Given the description of an element on the screen output the (x, y) to click on. 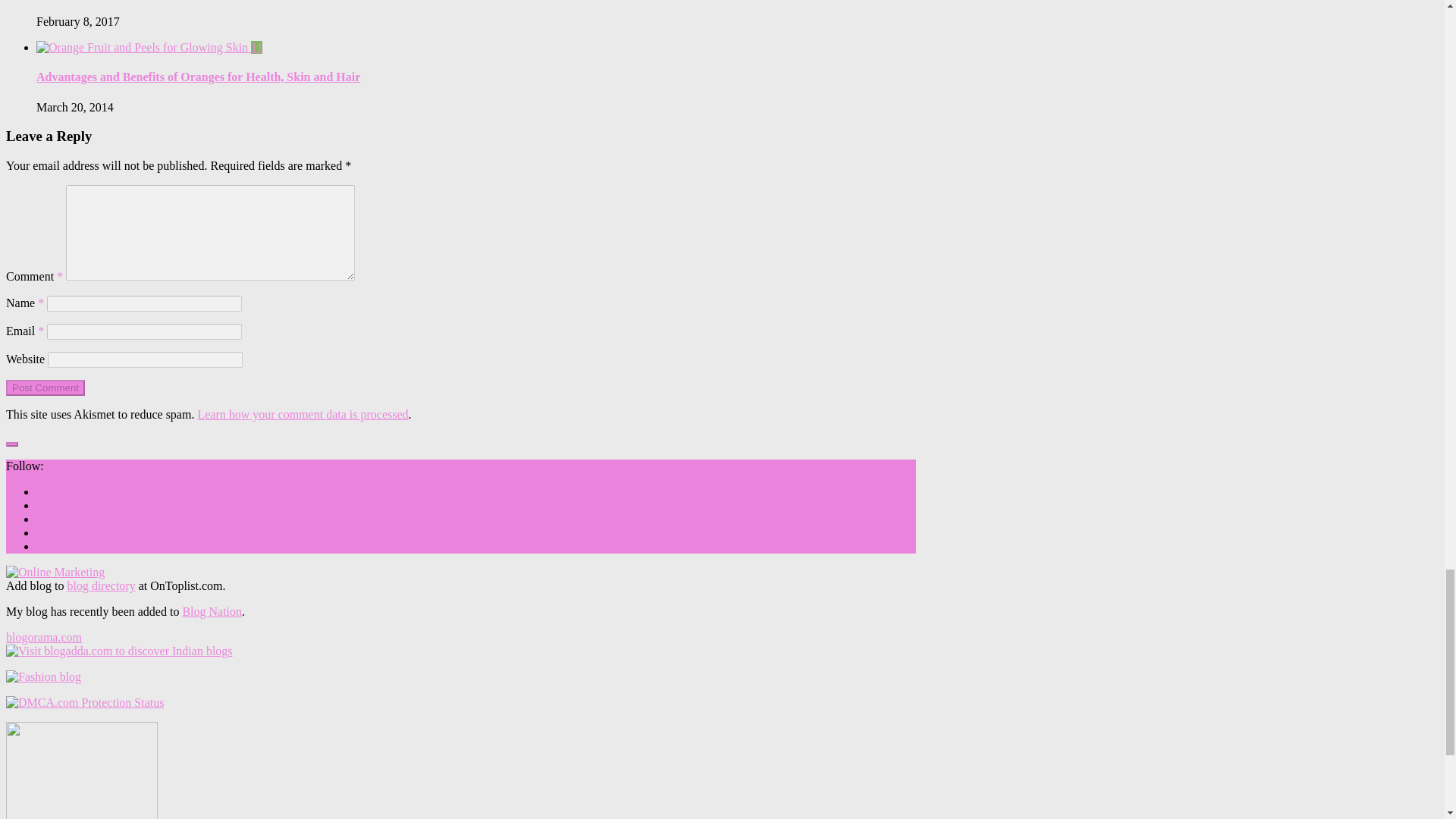
Expand Sidebar (11, 444)
Online Marketing (54, 571)
Post Comment (44, 387)
